Given the description of an element on the screen output the (x, y) to click on. 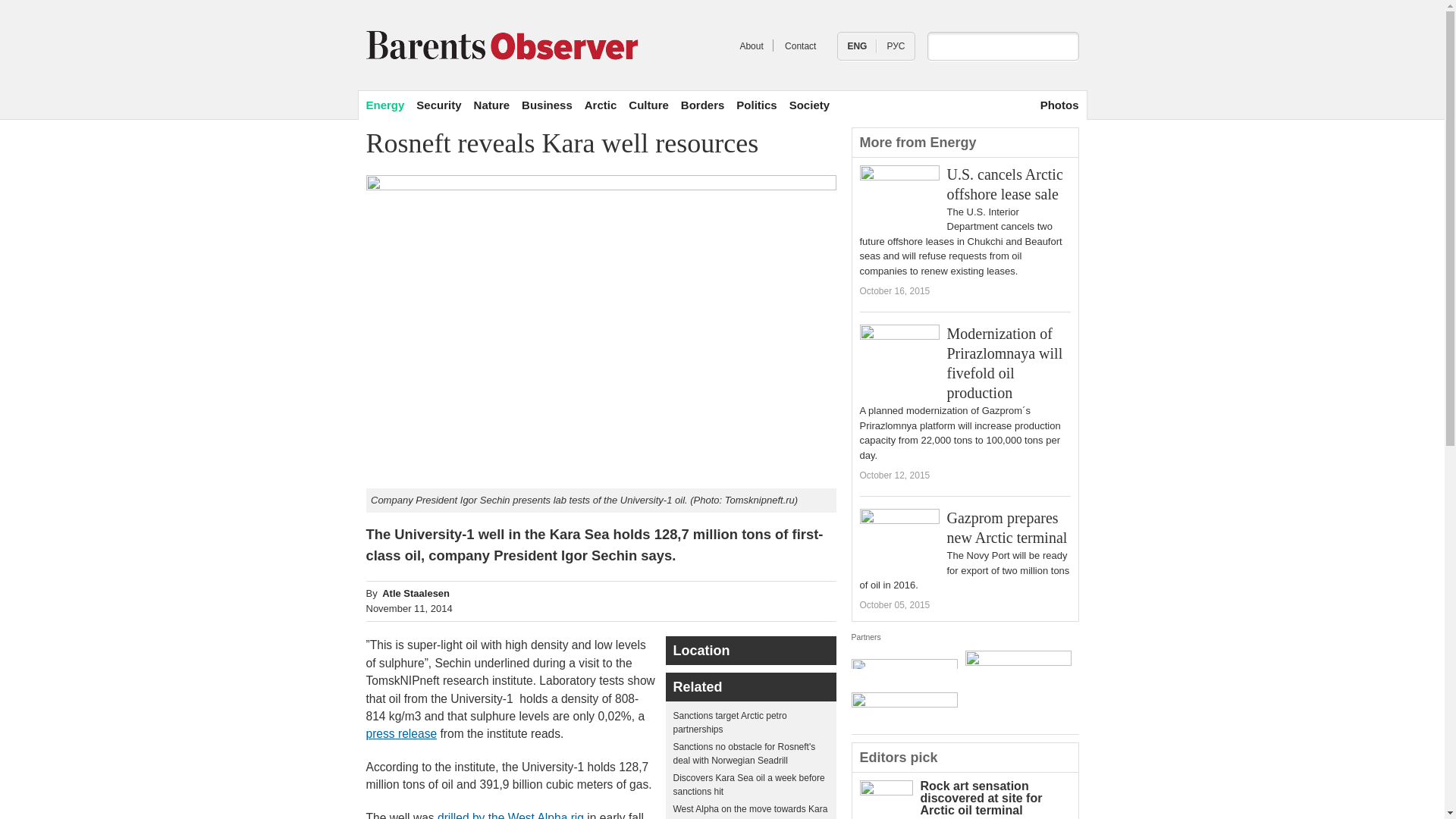
Culture (648, 104)
Society (809, 104)
Security (438, 104)
ENG (856, 45)
drilled by the West Alpha rig (510, 815)
Sanctions target Arctic petro partnerships (729, 722)
Modernization of Prirazlomnaya will fivefold oil production (1004, 363)
Contact (800, 45)
Nature (492, 104)
